Given the description of an element on the screen output the (x, y) to click on. 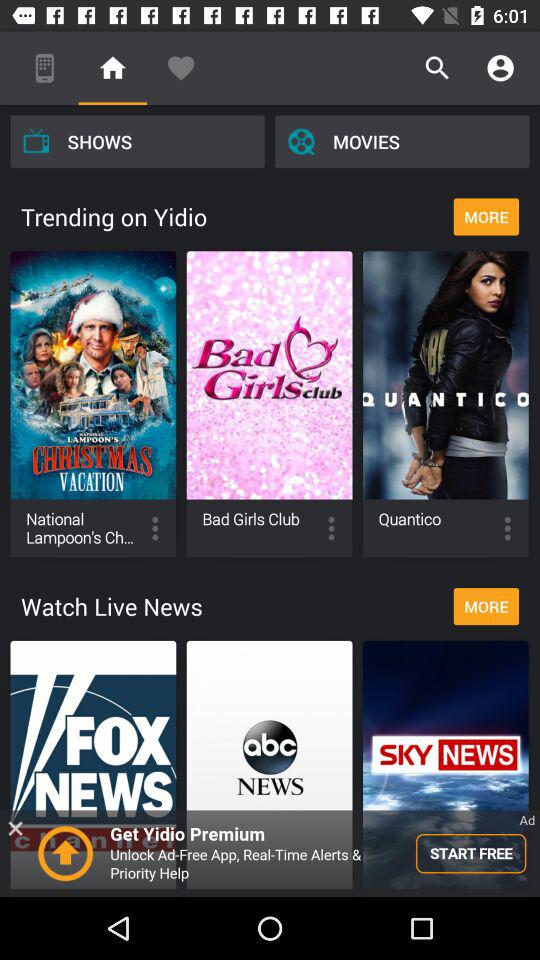
turn on movies item (402, 141)
